Given the description of an element on the screen output the (x, y) to click on. 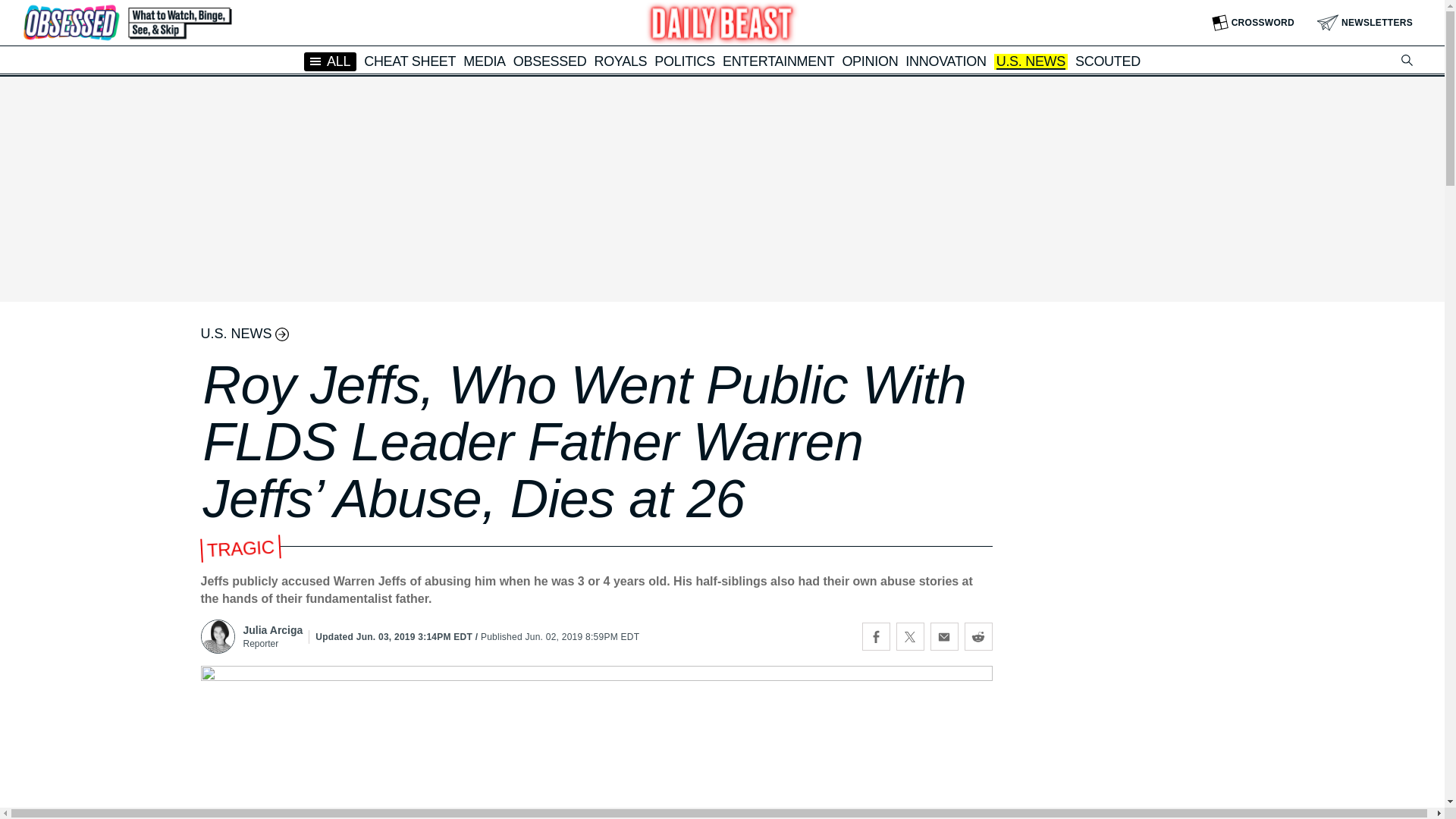
OPINION (869, 60)
ALL (330, 60)
ROYALS (620, 60)
OBSESSED (549, 60)
MEDIA (484, 60)
NEWSLETTERS (1364, 22)
ENTERTAINMENT (778, 60)
INNOVATION (945, 60)
POLITICS (683, 60)
CHEAT SHEET (409, 60)
